Given the description of an element on the screen output the (x, y) to click on. 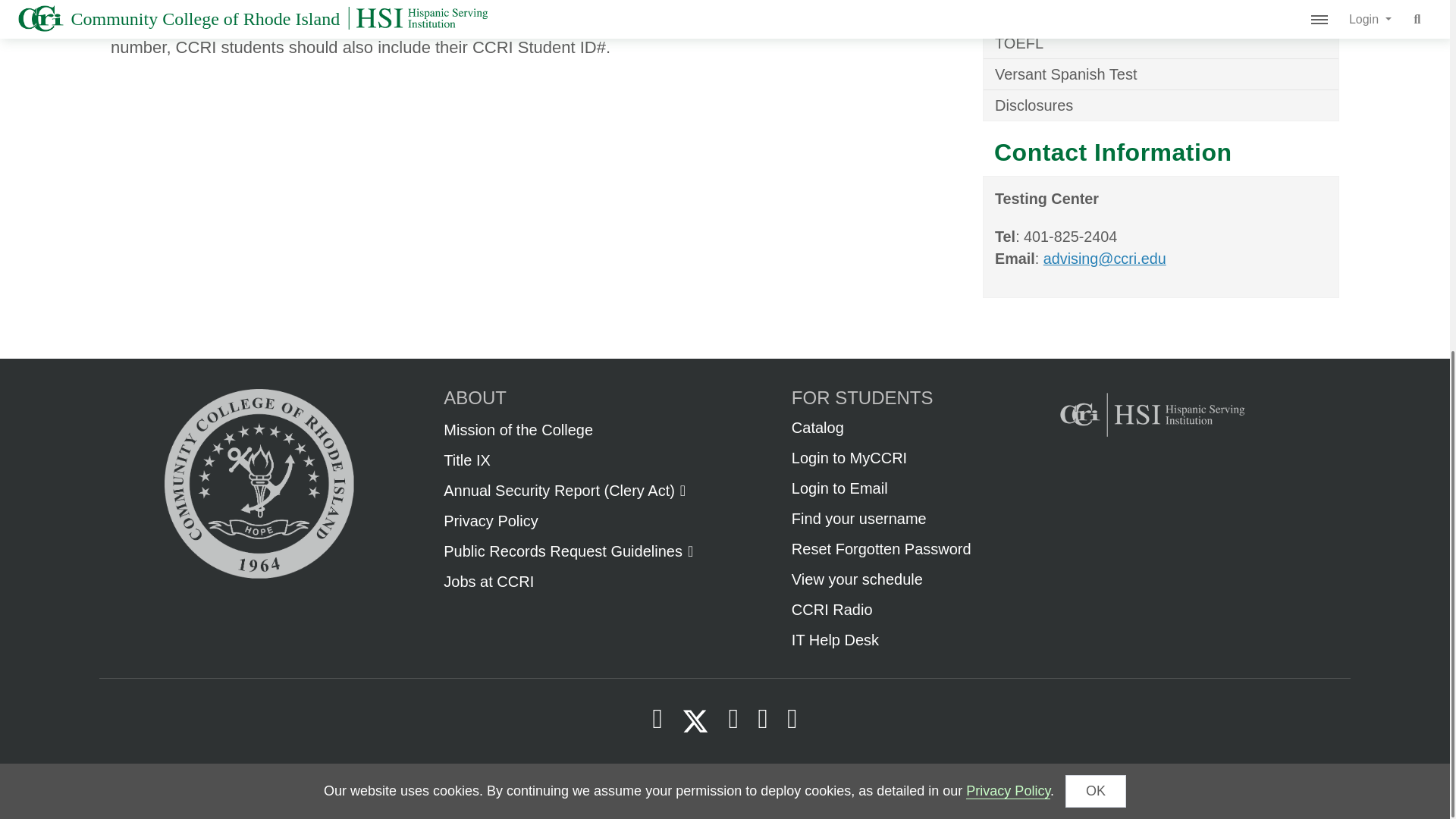
Hispanic-Serving Institution (1147, 451)
